Given the description of an element on the screen output the (x, y) to click on. 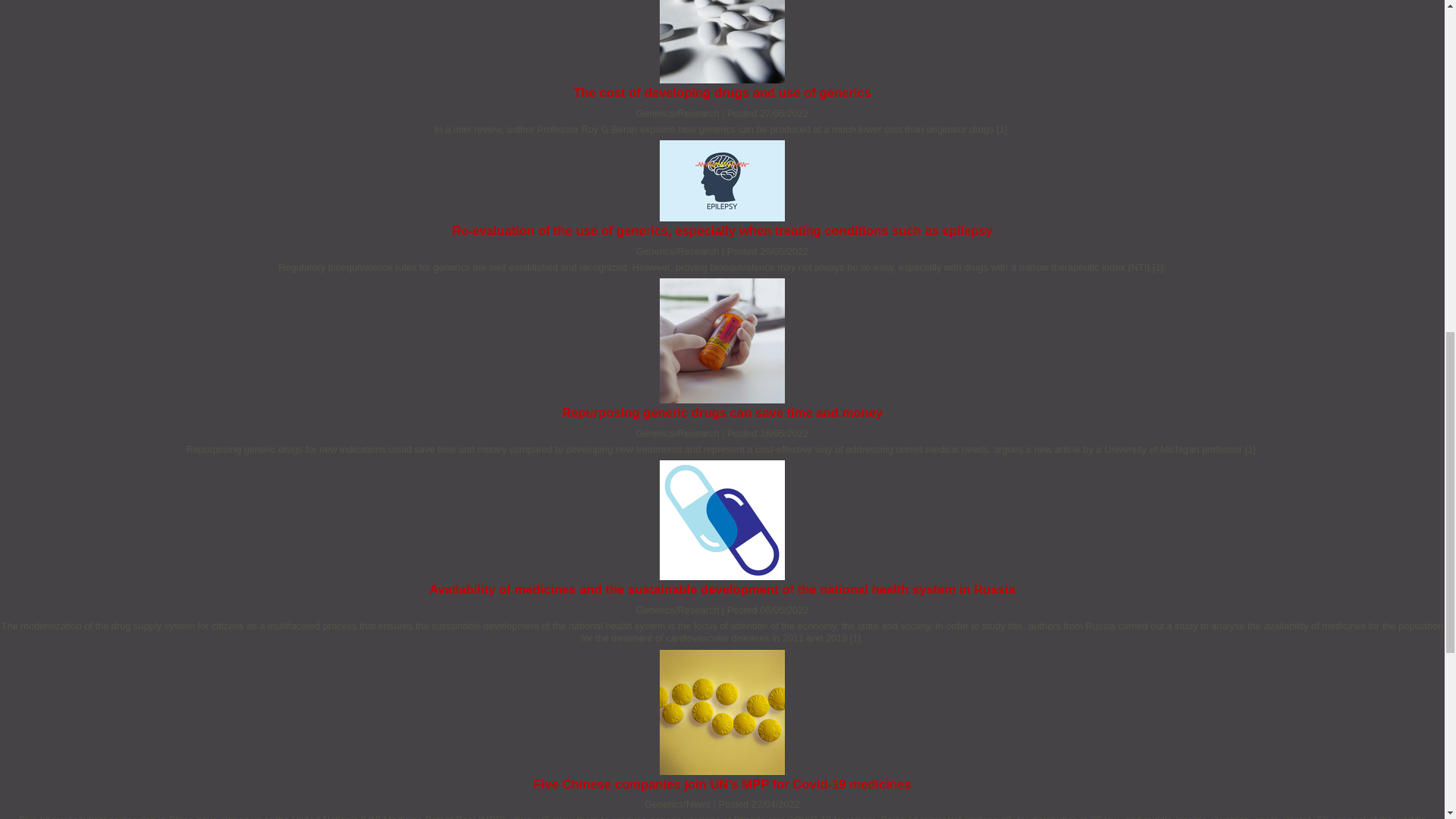
epilepsy main blue V22E20  (721, 180)
77 MD002338 (721, 340)
Repurposing generic drugs can save time and money (722, 412)
The cost of developing drugs and use of generics (721, 92)
28 MD002360 (721, 41)
Capsules visual V16A24DG (721, 519)
52 MD002433 (721, 712)
